Given the description of an element on the screen output the (x, y) to click on. 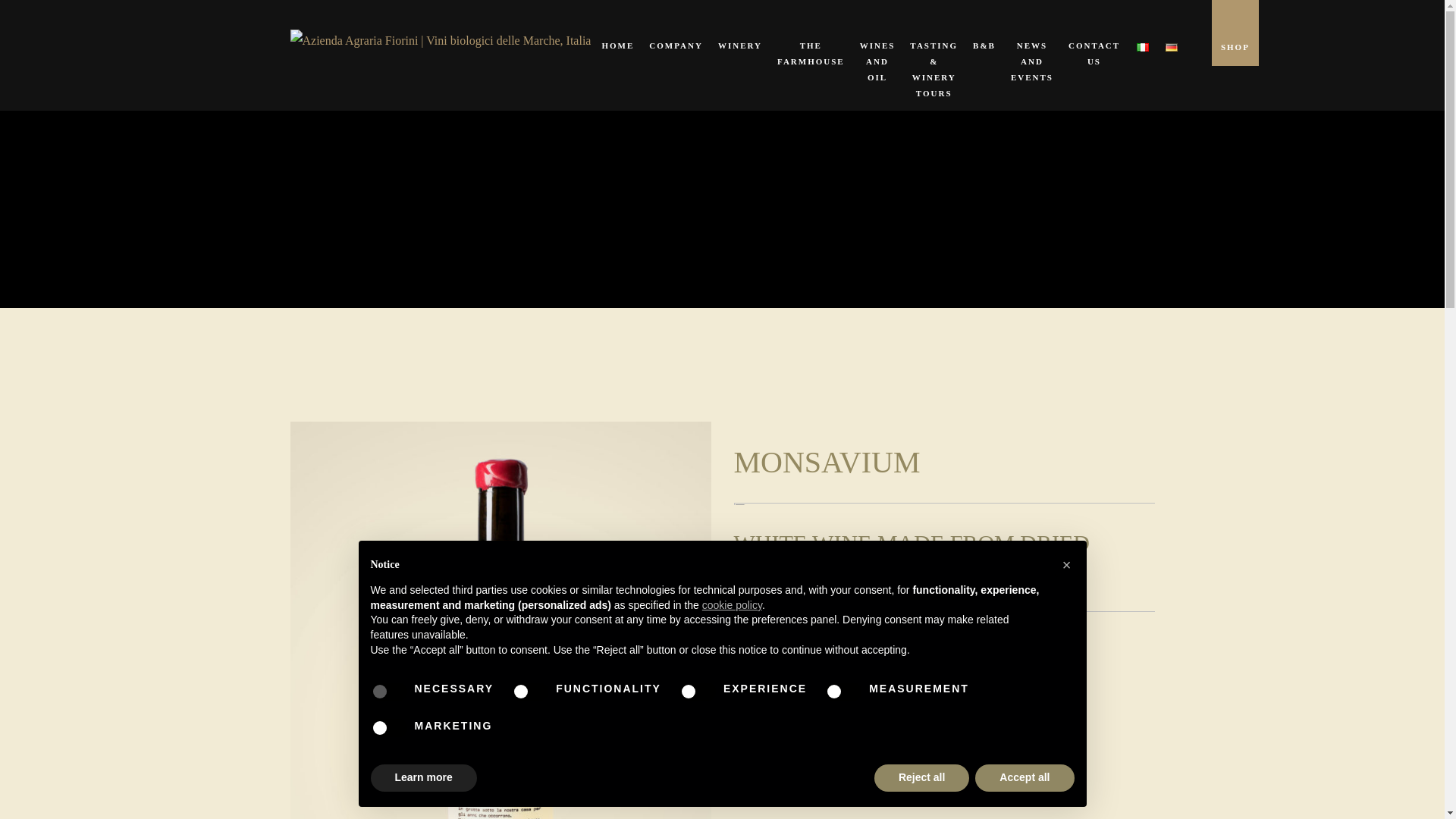
Winery (740, 31)
false (843, 691)
true (387, 691)
false (697, 691)
COMPANY (676, 31)
WINERY (740, 31)
Company (676, 31)
The Farmhouse (810, 39)
THE FARMHOUSE (810, 39)
false (387, 728)
